Given the description of an element on the screen output the (x, y) to click on. 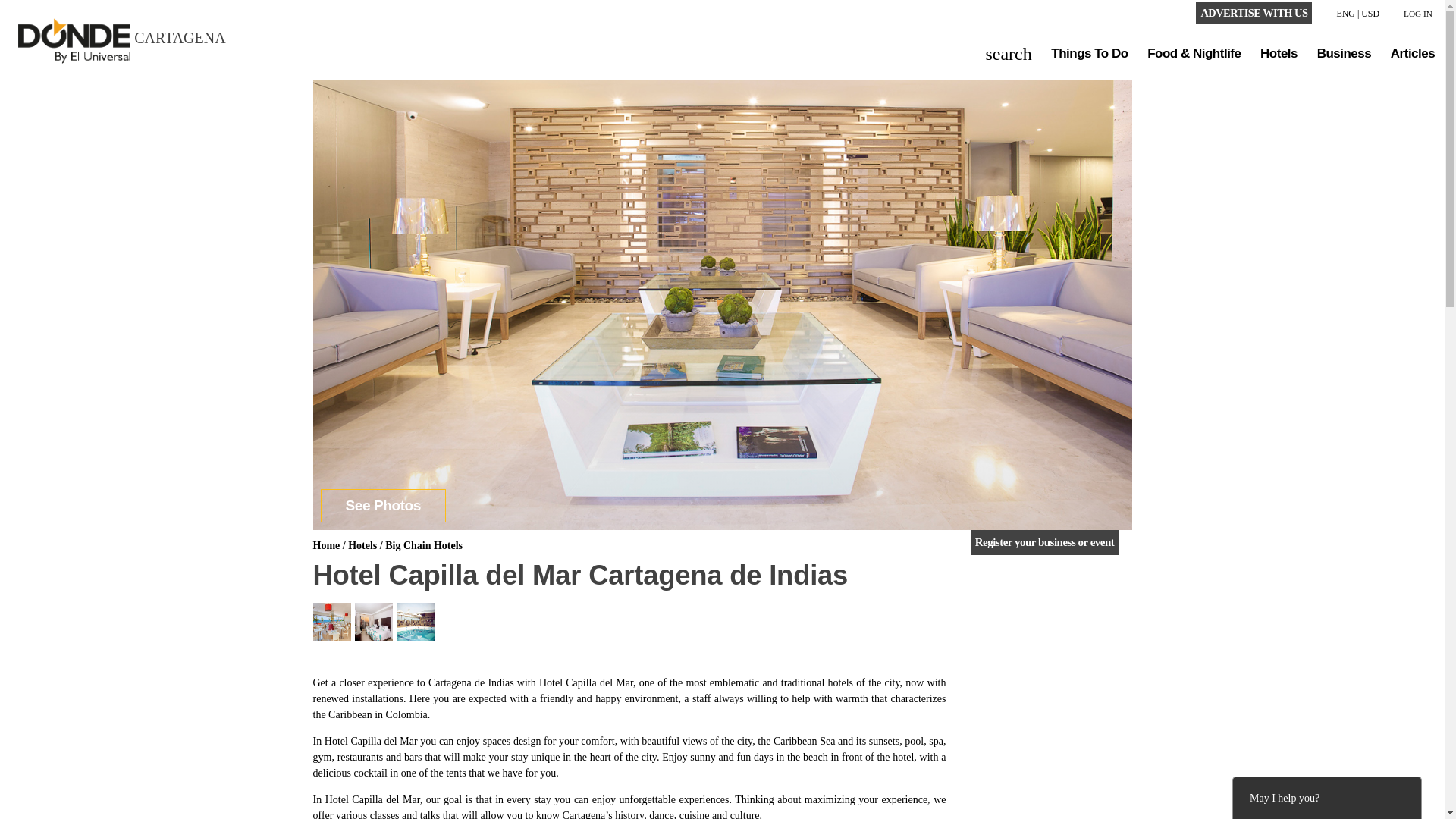
Business (1343, 53)
Big Chain Hotels (424, 545)
LOG IN (1417, 13)
Hotels (362, 545)
See Photos (382, 505)
Home (326, 545)
search (1008, 52)
Hotels (1278, 53)
Register your business or event (1045, 542)
ADVERTISE WITH US (1253, 13)
